Given the description of an element on the screen output the (x, y) to click on. 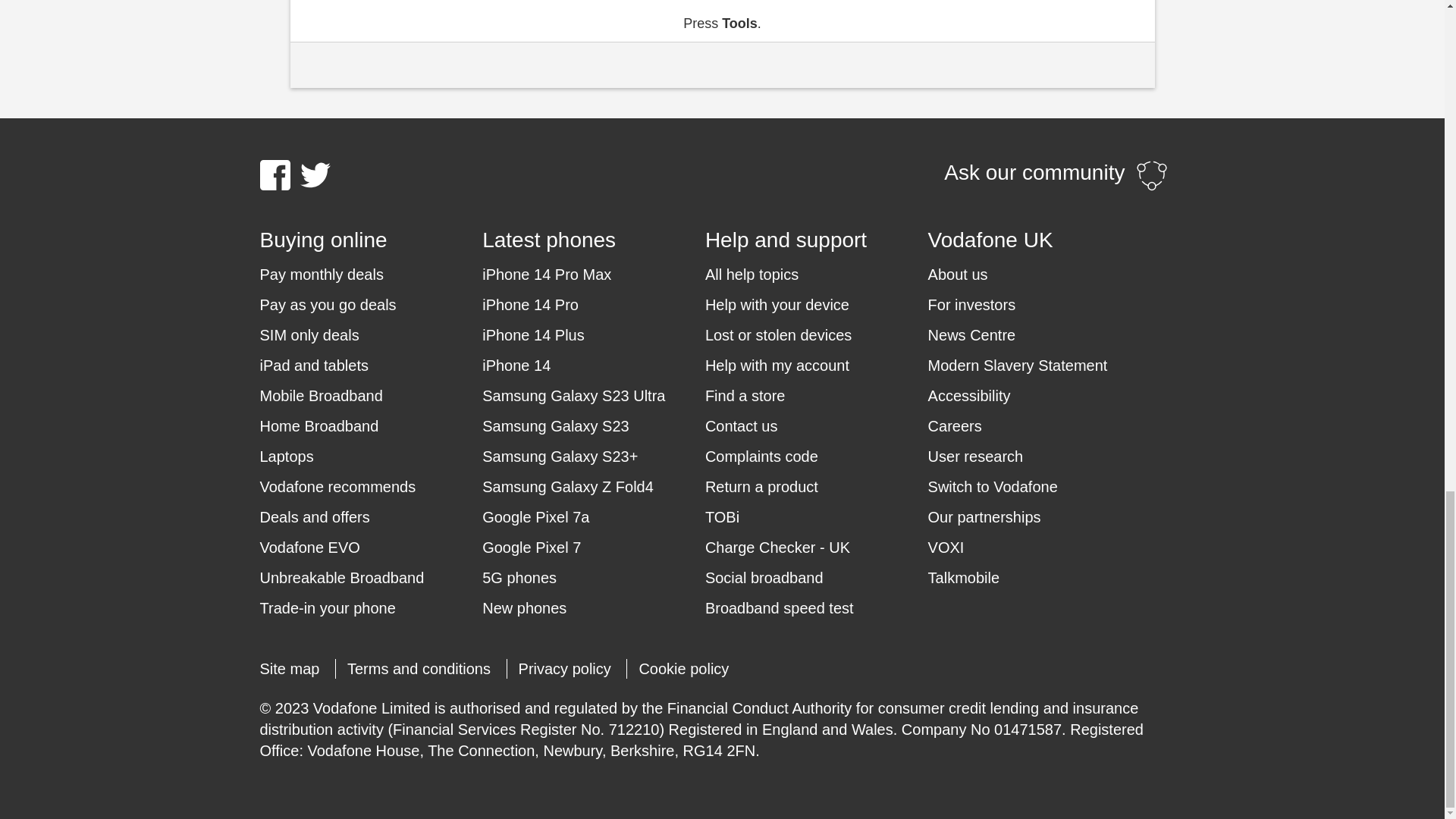
Mobile Broadband (320, 395)
iPad and tablets (313, 365)
Vodafone EVO (309, 547)
Vodafone recommends (336, 486)
Trade-in your phone (326, 608)
SIM only deals (308, 334)
Home Broadband (318, 425)
Pay as you go deals (327, 304)
Deals and offers (314, 516)
Twitter (314, 174)
